Given the description of an element on the screen output the (x, y) to click on. 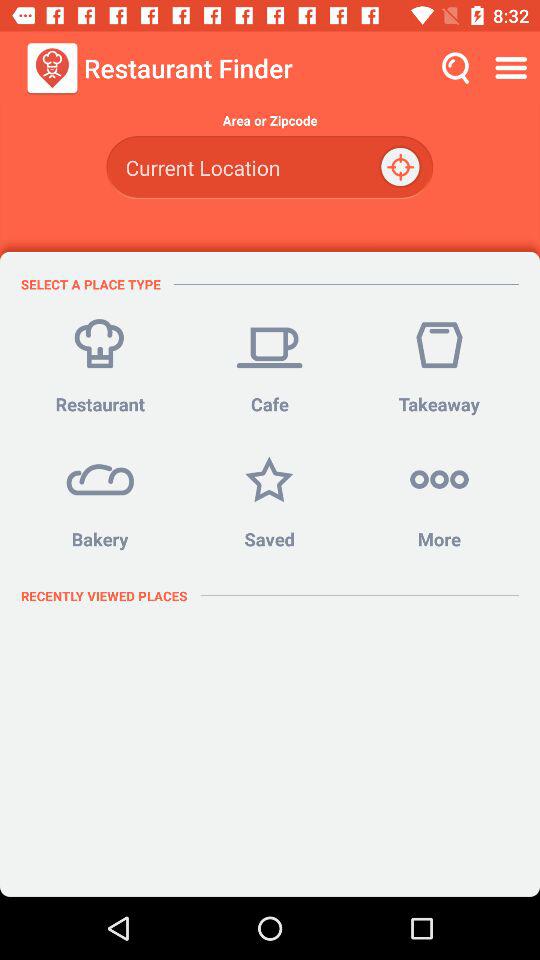
turn off icon below the area or zipcode (401, 167)
